Given the description of an element on the screen output the (x, y) to click on. 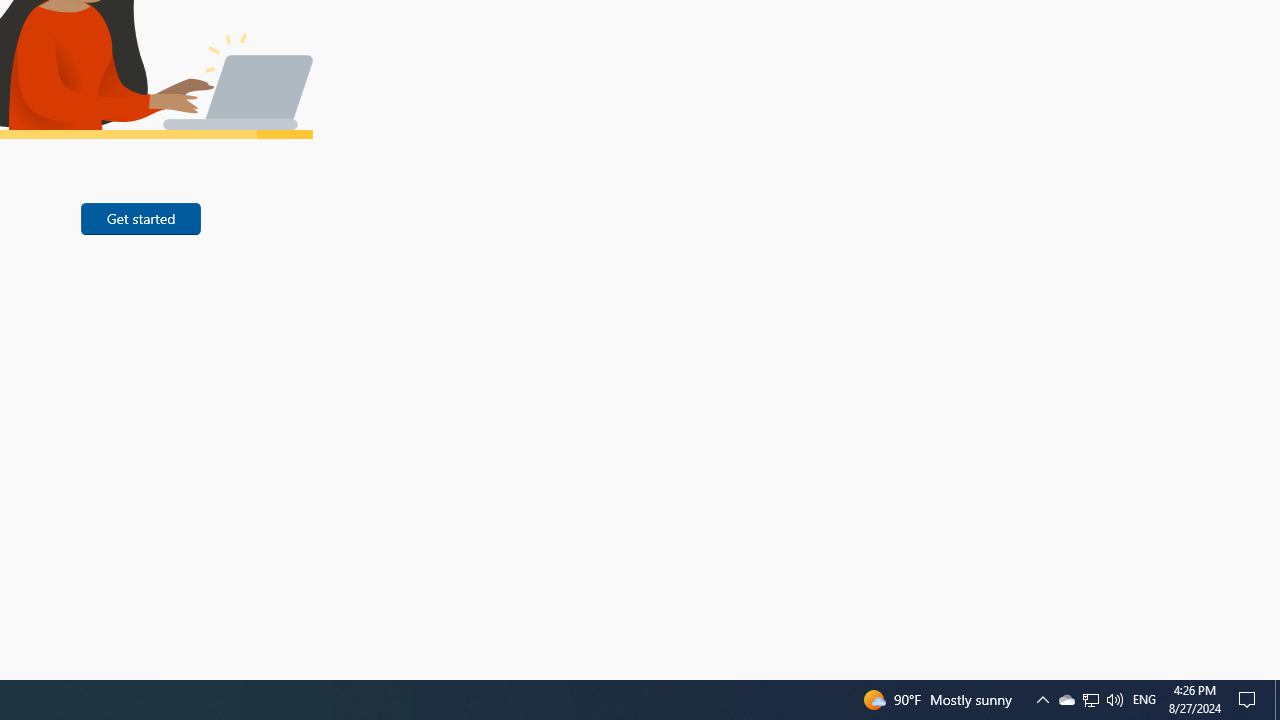
Tray Input Indicator - English (United States) (1144, 699)
Show desktop (1091, 699)
Q2790: 100% (1277, 699)
Get started (1066, 699)
User Promoted Notification Area (1114, 699)
Action Center, No new notifications (140, 218)
Notification Chevron (1090, 699)
